Given the description of an element on the screen output the (x, y) to click on. 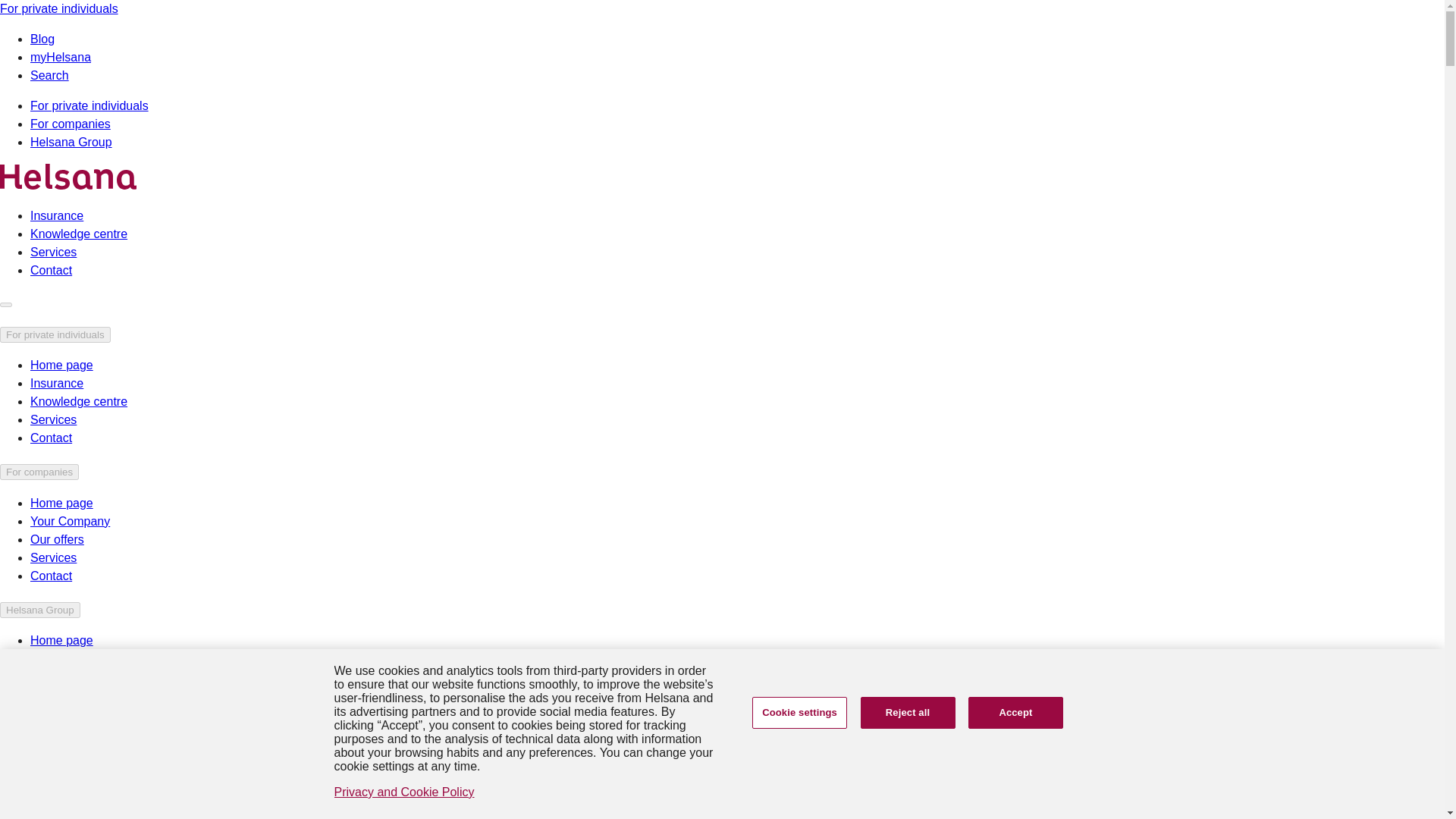
Cookie settings (799, 712)
Accept (1015, 712)
Reject all (907, 712)
Privacy and Cookie Policy (403, 791)
